Given the description of an element on the screen output the (x, y) to click on. 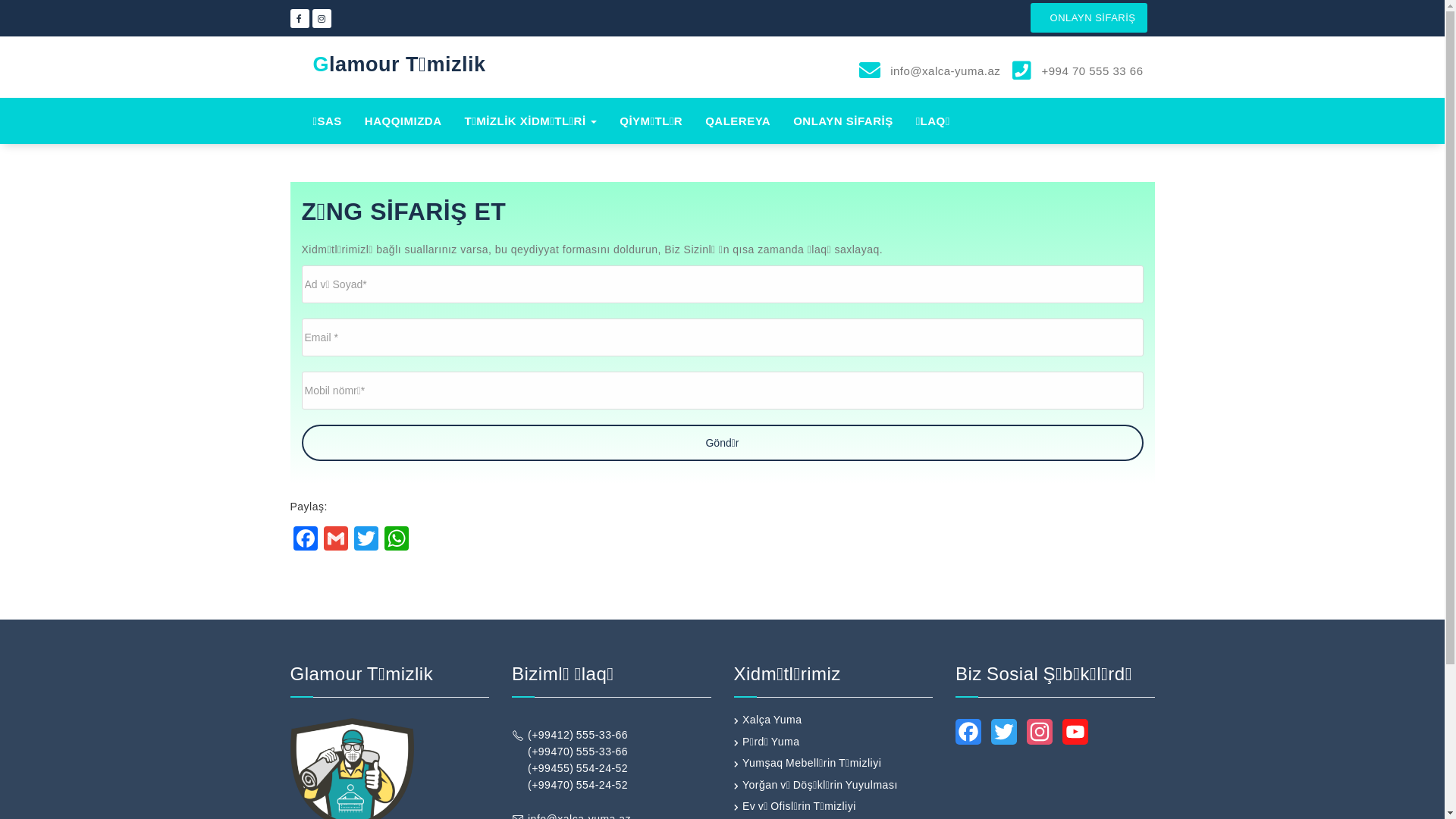
+994 70 555 33 66 Element type: text (1090, 70)
Skip to content Element type: text (0, 0)
QALEREYA Element type: text (737, 120)
info@xalca-yuma.az Element type: text (944, 70)
Twitter Element type: text (365, 540)
WhatsApp Element type: text (395, 540)
Facebook Element type: text (968, 735)
Twitter Element type: text (1003, 735)
Facebook Element type: text (304, 540)
Instagram Element type: text (1039, 735)
HAQQIMIZDA Element type: text (403, 120)
Gmail Element type: text (335, 540)
YouTube Channel Element type: text (1075, 735)
